Given the description of an element on the screen output the (x, y) to click on. 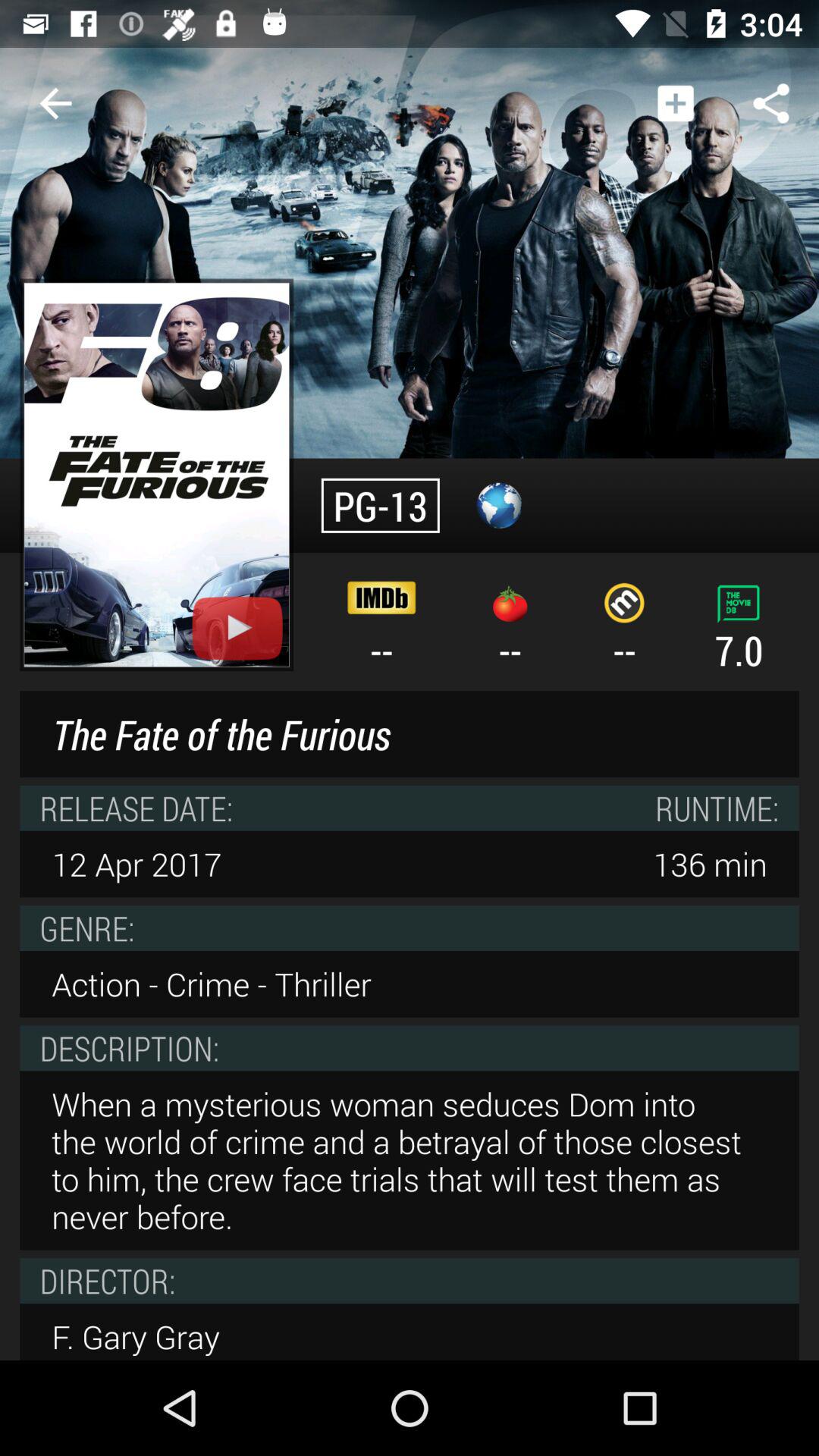
tap the item above 7.0 (771, 103)
